Given the description of an element on the screen output the (x, y) to click on. 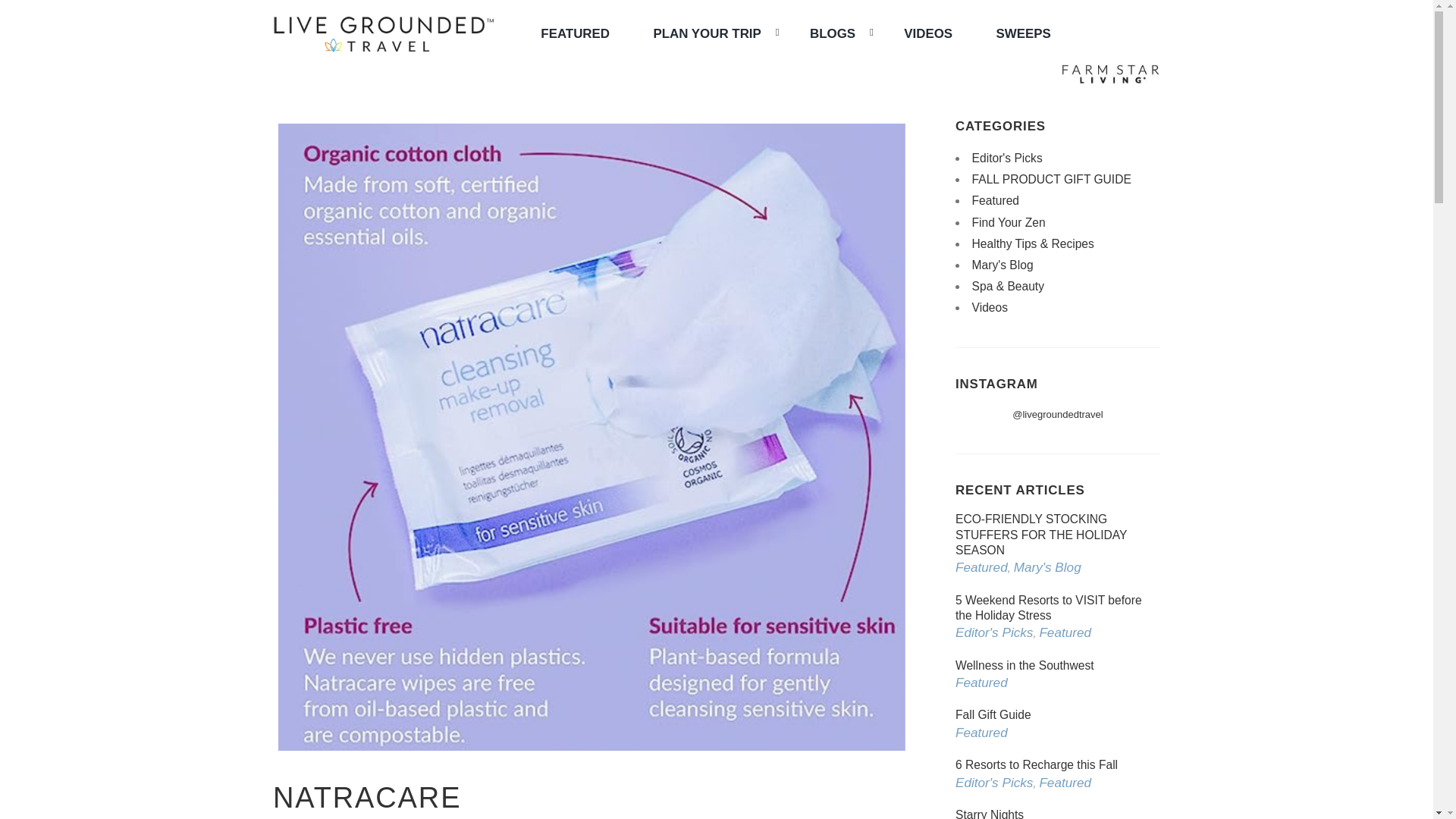
VIDEOS (927, 34)
FEATURED (574, 34)
PLAN YOUR TRIP (708, 34)
SWEEPS (1023, 34)
BLOGS (834, 34)
